Given the description of an element on the screen output the (x, y) to click on. 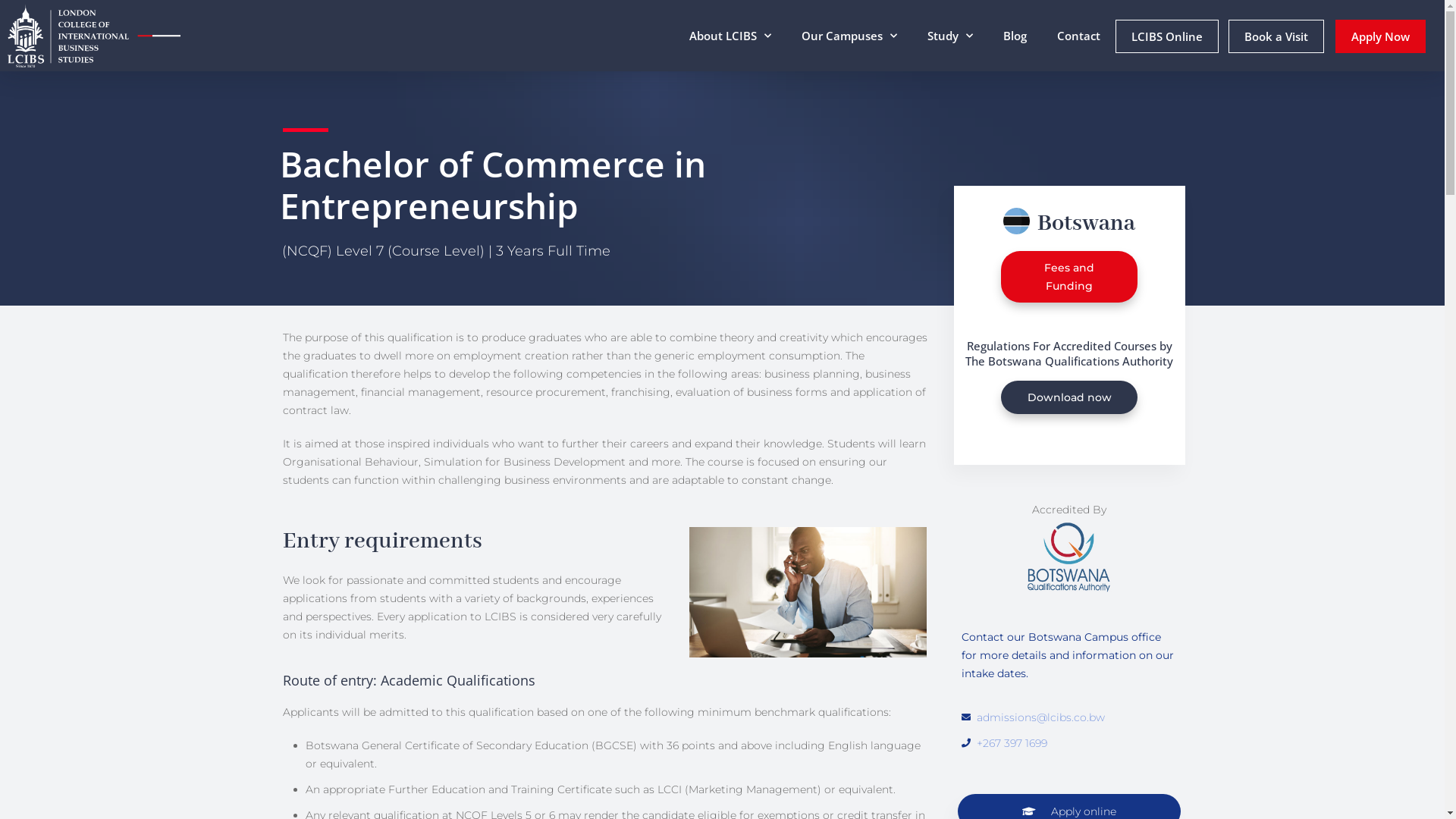
About LCIBS Element type: text (730, 35)
admissions@lcibs.co.bw Element type: text (1040, 717)
Apply Now Element type: text (1380, 36)
3 Years Full Time Element type: text (550, 250)
Book a Visit Element type: text (1276, 36)
Fees and Funding Element type: text (1069, 276)
Blog Element type: text (1014, 35)
Our Campuses Element type: text (849, 35)
Download now Element type: text (1069, 397)
LCIBS Online Element type: text (1166, 36)
+267 397 1699 Element type: text (1011, 742)
Contact Element type: text (1078, 35)
UK flag Element type: hover (1016, 220)
(NCQF) Level 7 (Course Level) Element type: text (385, 250)
Study Element type: text (950, 35)
